Given the description of an element on the screen output the (x, y) to click on. 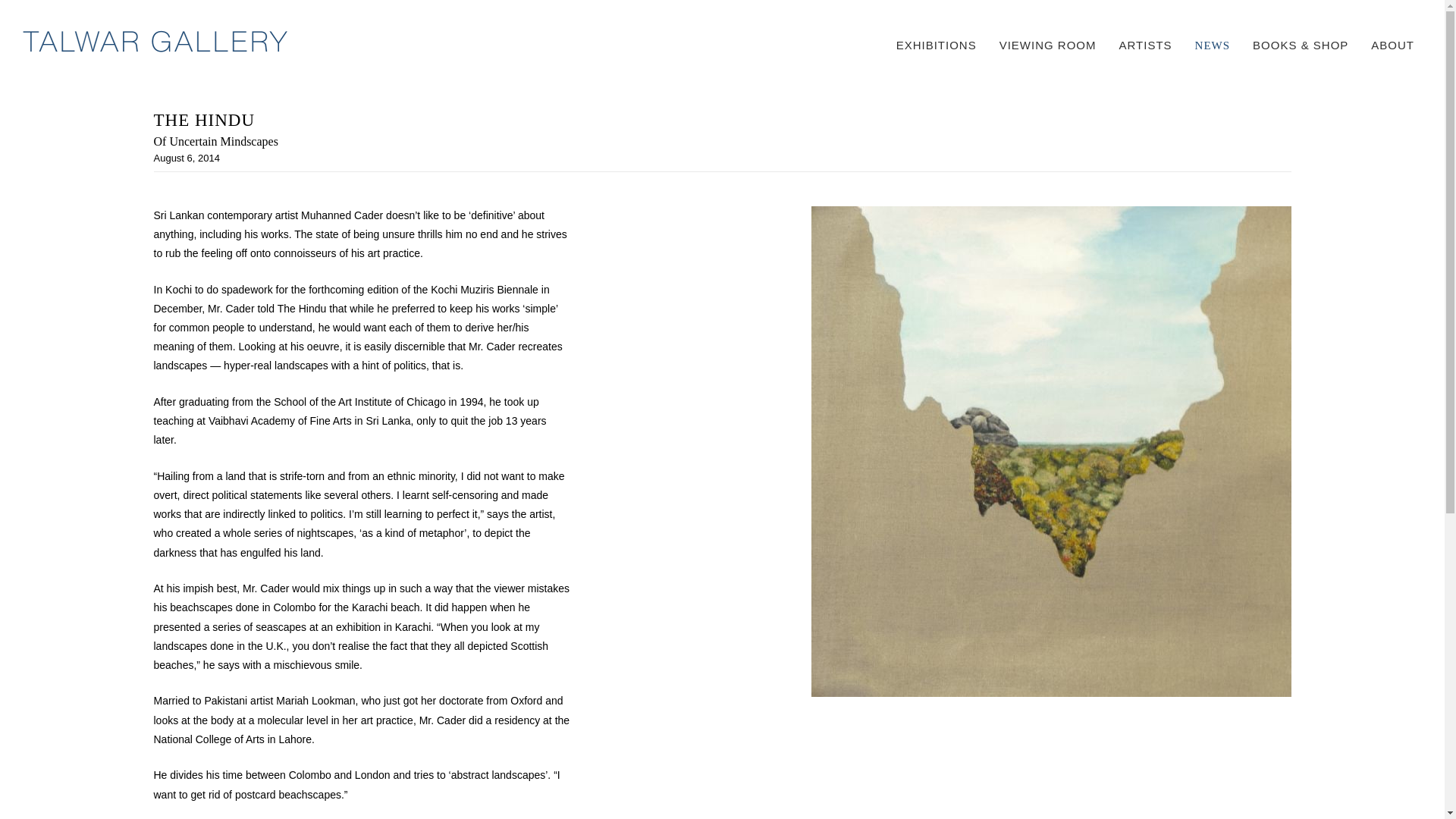
ABOUT (1392, 44)
EXHIBITIONS (936, 44)
ARTISTS (1145, 44)
NEWS (1212, 45)
VIEWING ROOM (1047, 44)
